Given the description of an element on the screen output the (x, y) to click on. 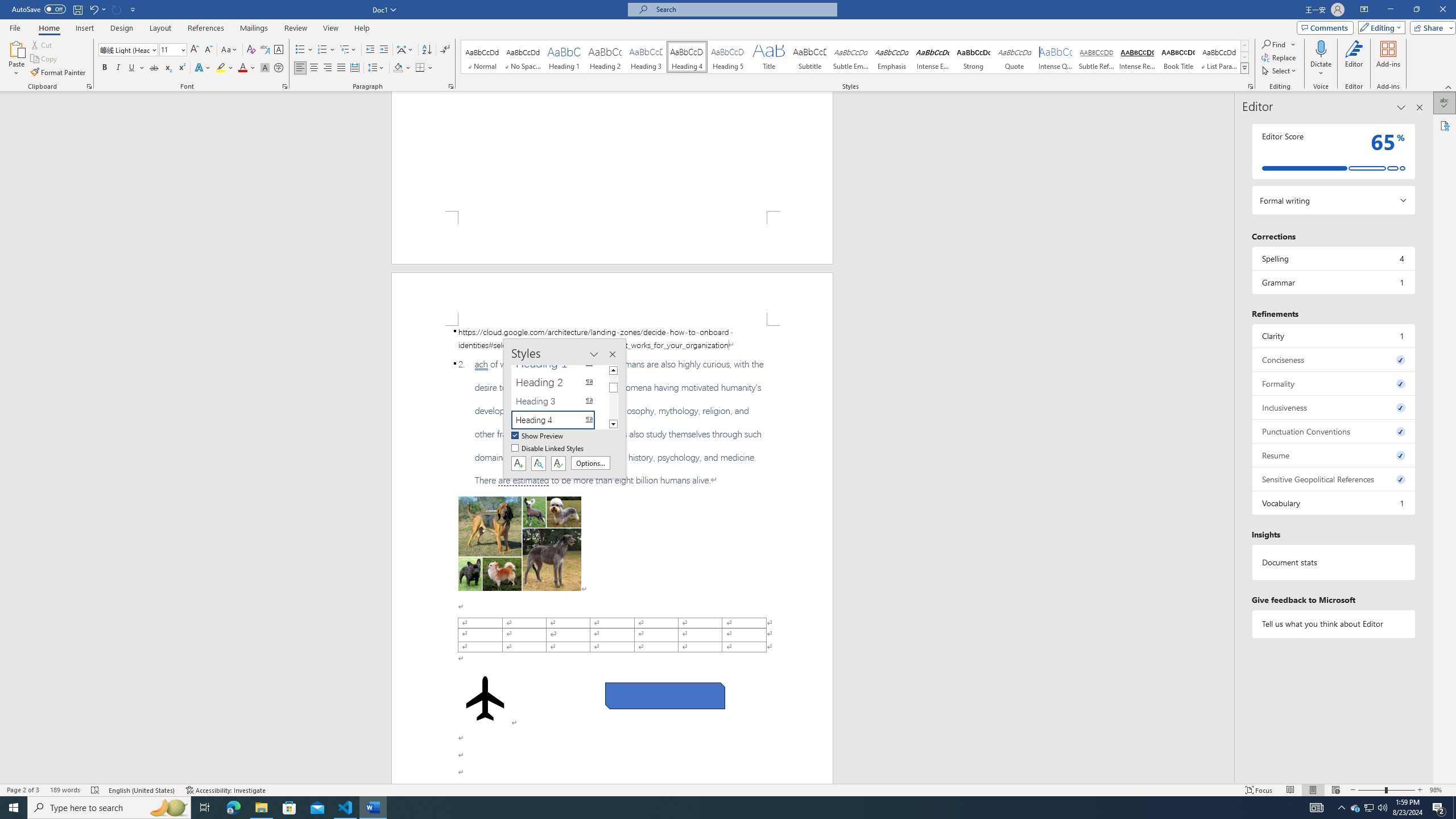
Spelling and Grammar Check Errors (94, 790)
Align Right (327, 67)
Font (128, 49)
Enclose Characters... (278, 67)
Language English (United States) (141, 790)
Row up (1244, 45)
Heading 1 (564, 56)
Can't Repeat (117, 9)
Page 2 content (611, 554)
Footer -Section 1- (611, 237)
Show Preview (537, 436)
Asian Layout (405, 49)
Format Painter (58, 72)
